Given the description of an element on the screen output the (x, y) to click on. 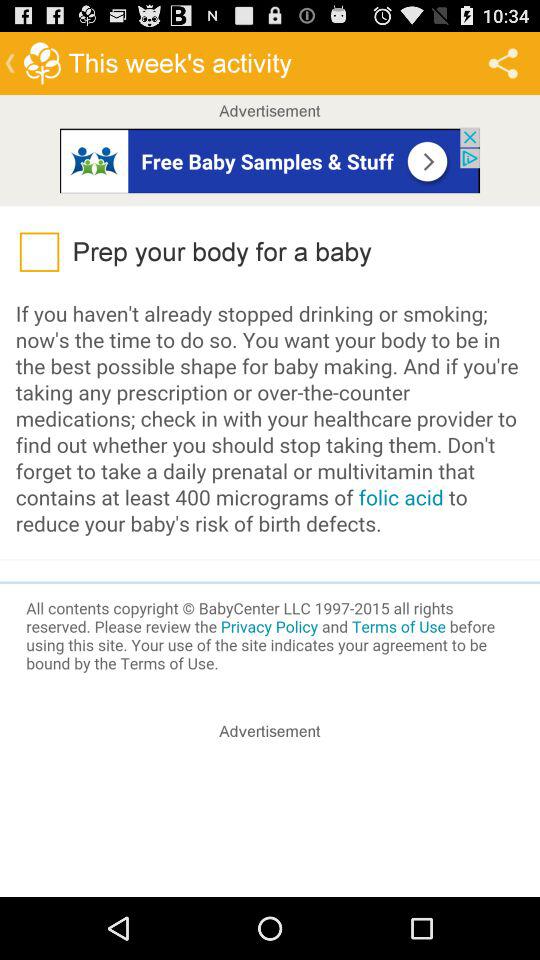
advertisement banner (270, 159)
